Given the description of an element on the screen output the (x, y) to click on. 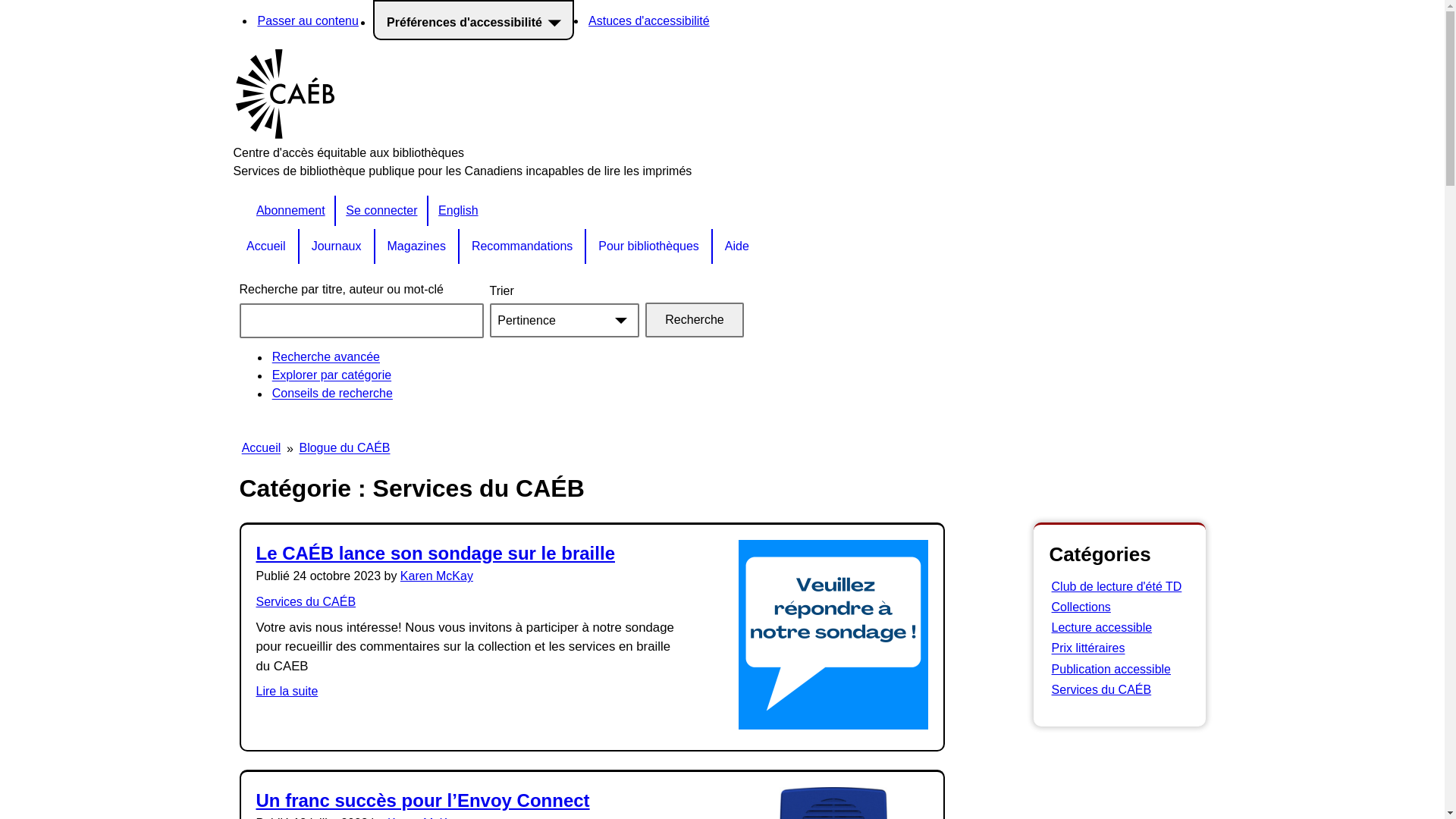
Recommandations Element type: text (522, 246)
Recherche Element type: text (694, 319)
Publication accessible Element type: text (1110, 668)
Se connecter Element type: text (381, 210)
Conseils de recherche Element type: text (332, 392)
Karen McKay Element type: text (436, 575)
Lecture accessible Element type: text (1101, 627)
Accueil Element type: text (261, 447)
Abonnement Element type: text (290, 210)
Accueil Element type: text (266, 246)
Magazines Element type: text (416, 246)
Journaux Element type: text (337, 246)
Collections Element type: text (1080, 606)
English Element type: text (457, 210)
Aide Element type: text (736, 246)
Passer au contenu Element type: text (307, 20)
Lire la suite Element type: text (287, 690)
